Given the description of an element on the screen output the (x, y) to click on. 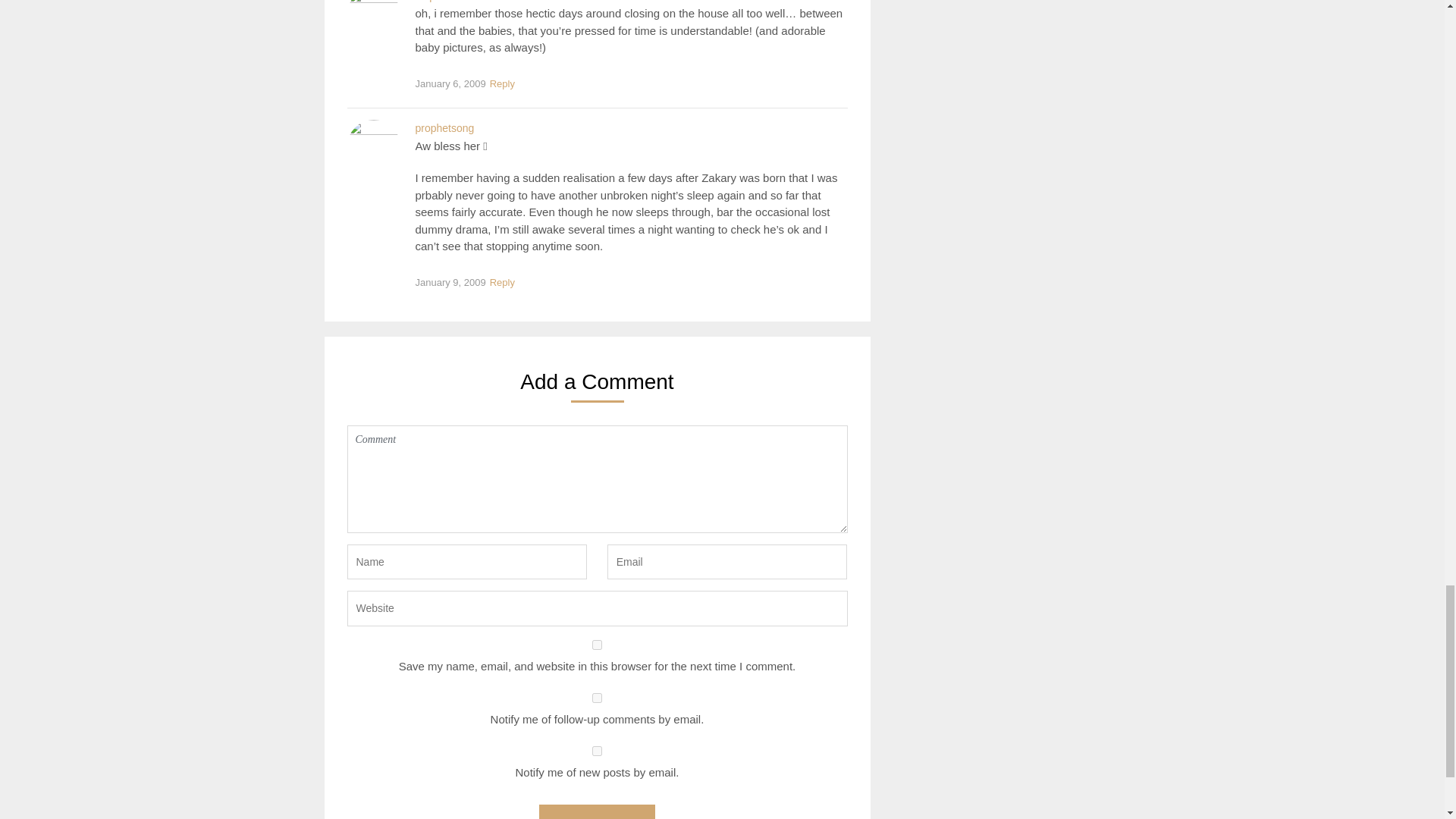
subscribe (597, 697)
Reply (502, 84)
yes (597, 644)
stupidfool (437, 1)
Reply (502, 282)
prophetsong (444, 128)
Add Comment (595, 811)
subscribe (597, 750)
Add Comment (595, 811)
